Given the description of an element on the screen output the (x, y) to click on. 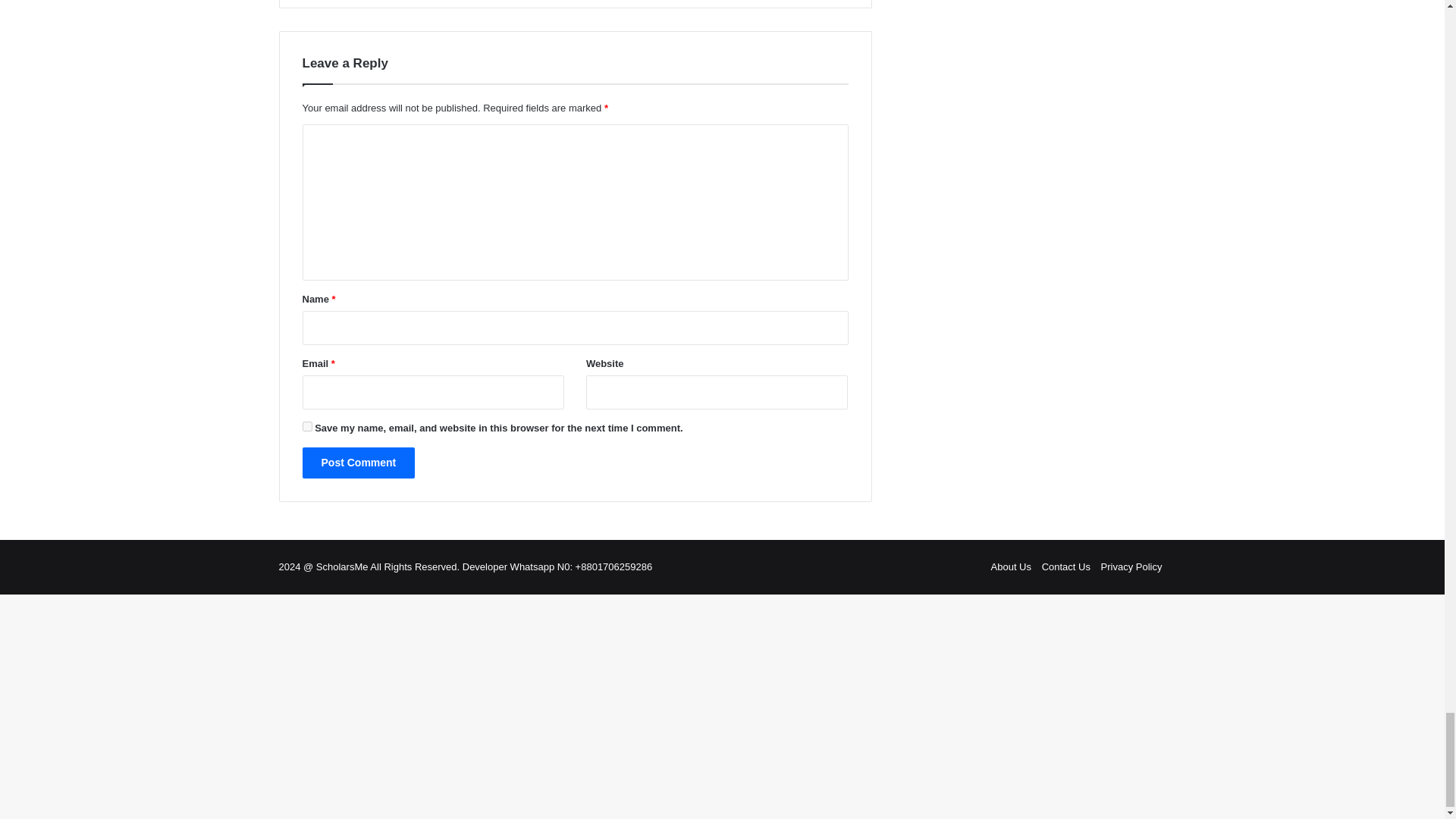
Post Comment (357, 462)
yes (306, 426)
